Given the description of an element on the screen output the (x, y) to click on. 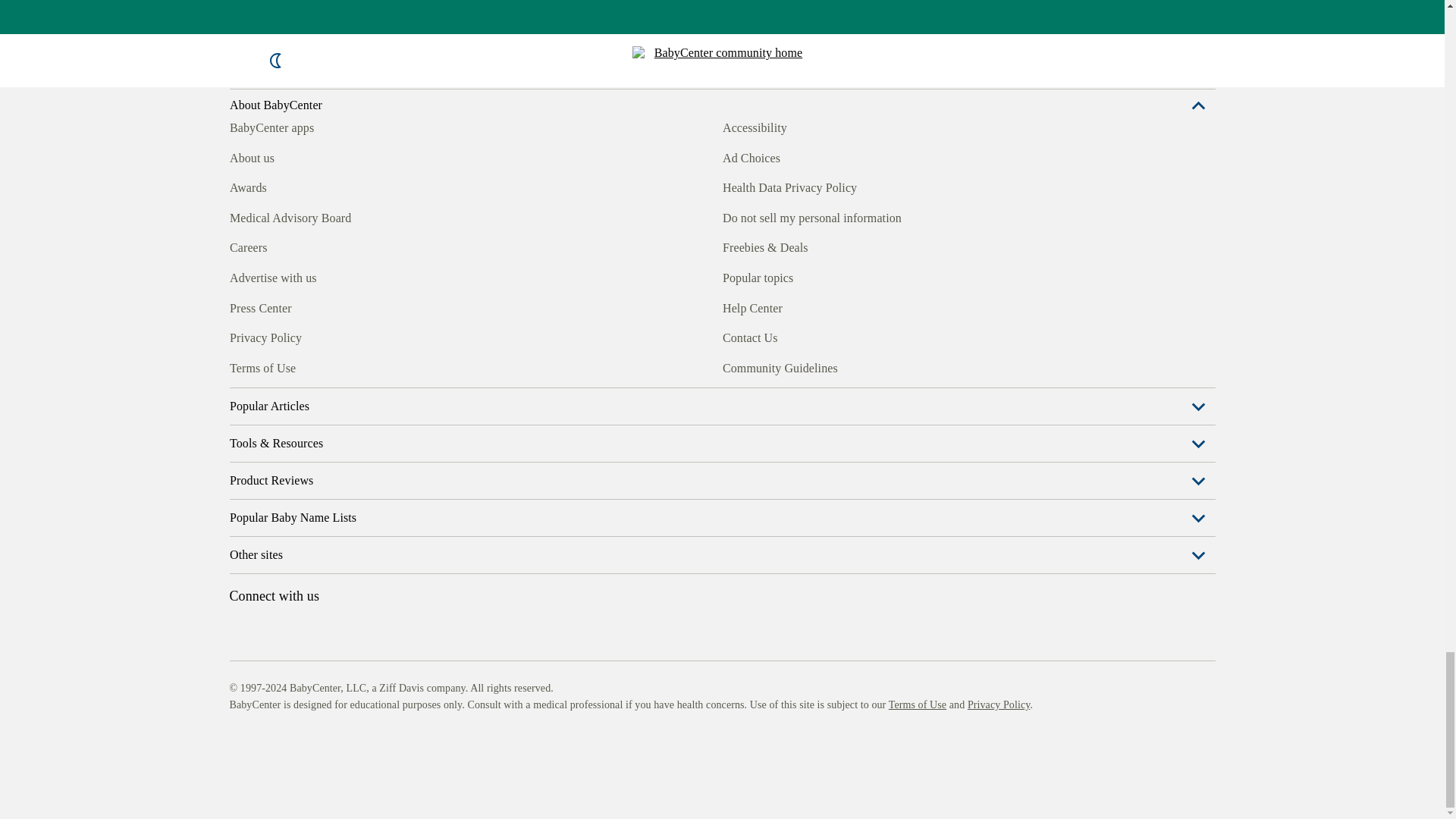
BabyCenter Facebook page (239, 446)
BabyCenter Twitter feed (379, 446)
BabyCenter YouTube channel (344, 446)
BabyCenter Instagram feed (274, 446)
BabyCenter Pinterest board (309, 446)
